Given the description of an element on the screen output the (x, y) to click on. 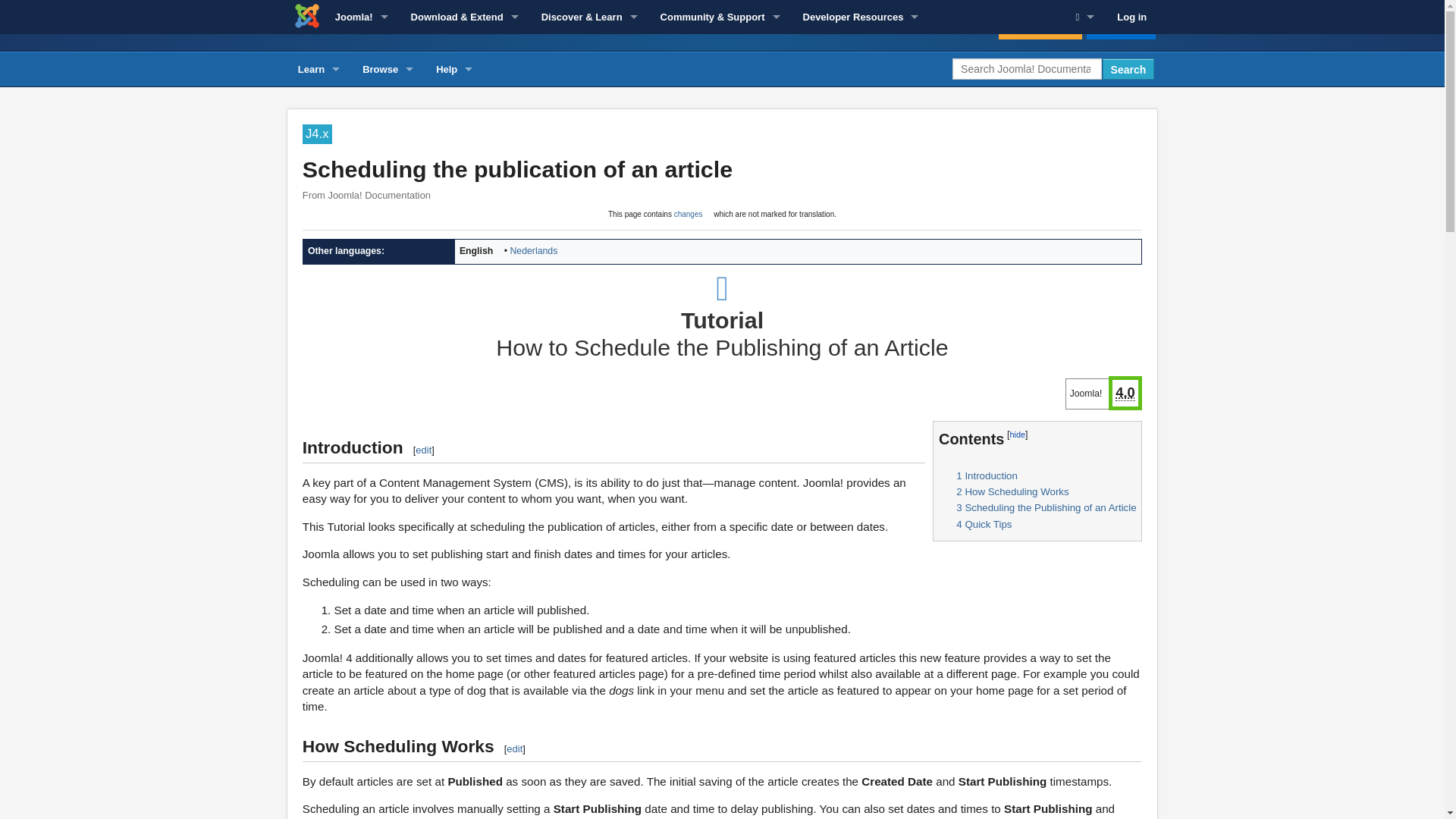
The latest stable version is 4.4.8 and 3.10.12 (1087, 393)
Edit section: Introduction (422, 449)
Joomla! (360, 17)
Edit section: How Scheduling Works (514, 748)
The latest stable version is 4.4.8 and 3.10.12 (1124, 392)
Developer Resources (861, 17)
